Given the description of an element on the screen output the (x, y) to click on. 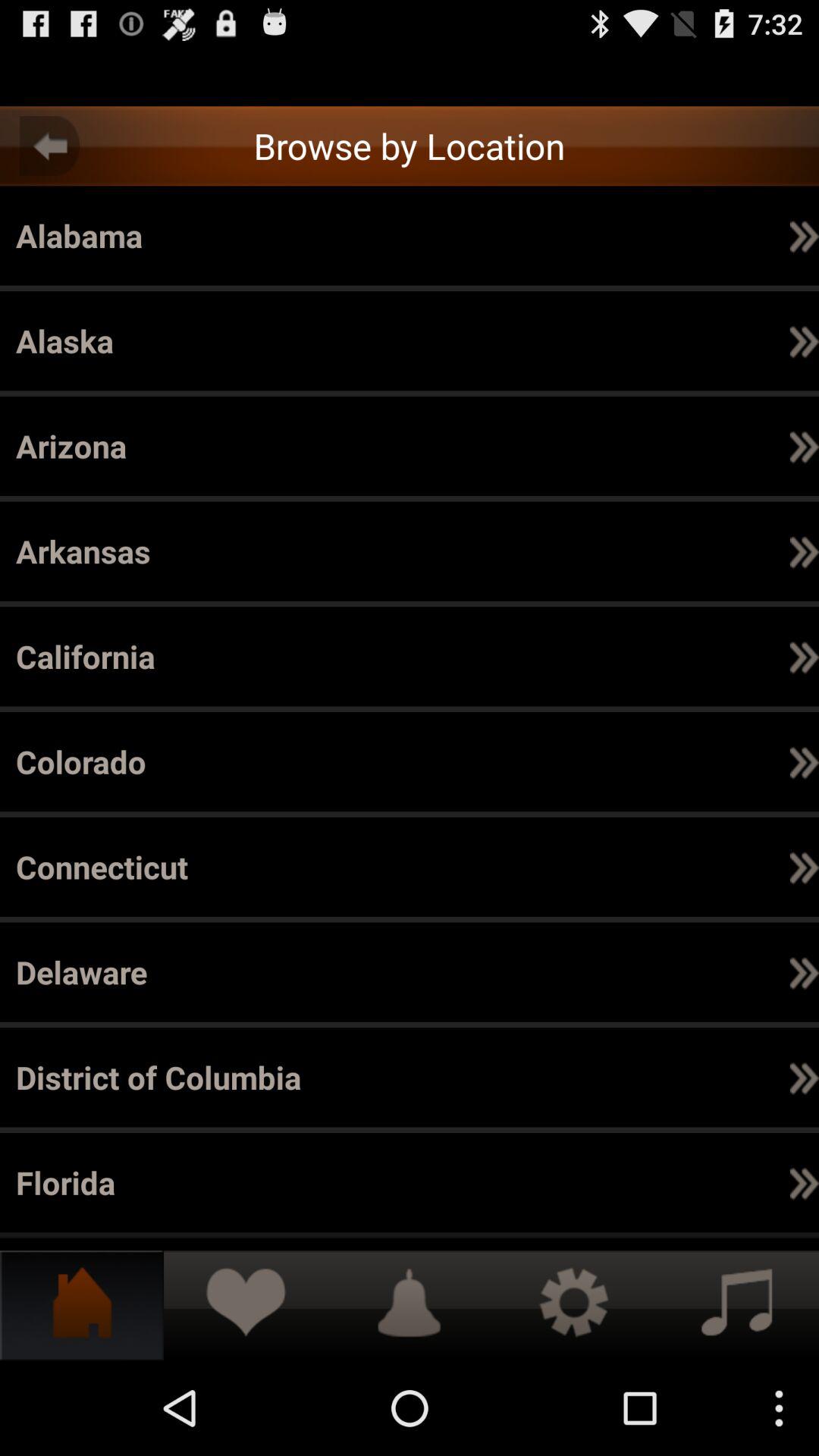
open app below california (658, 235)
